Given the description of an element on the screen output the (x, y) to click on. 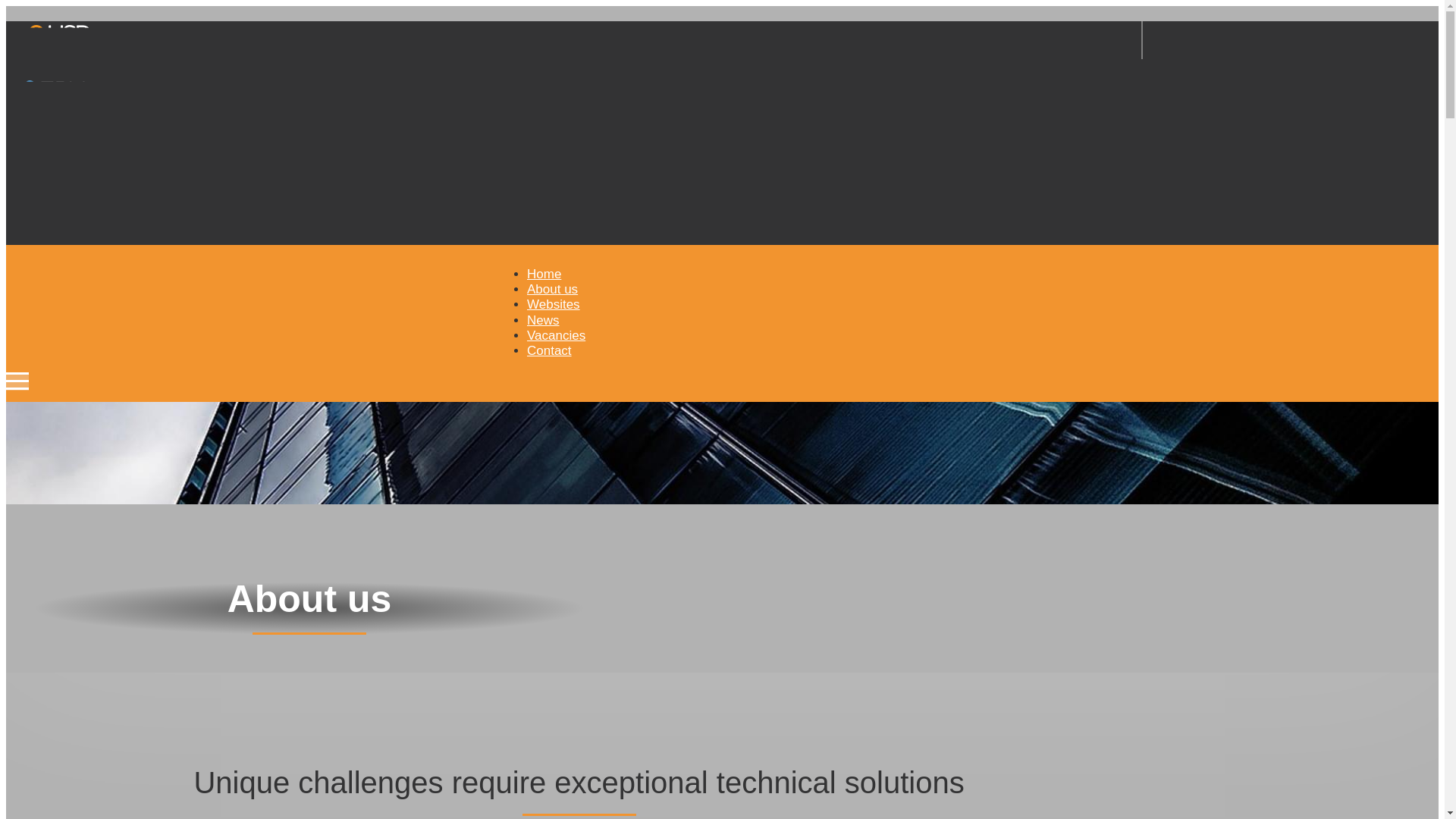
Home (543, 273)
News (543, 319)
About us (552, 288)
Contact (549, 350)
Websites (553, 304)
Vacancies (556, 335)
